Given the description of an element on the screen output the (x, y) to click on. 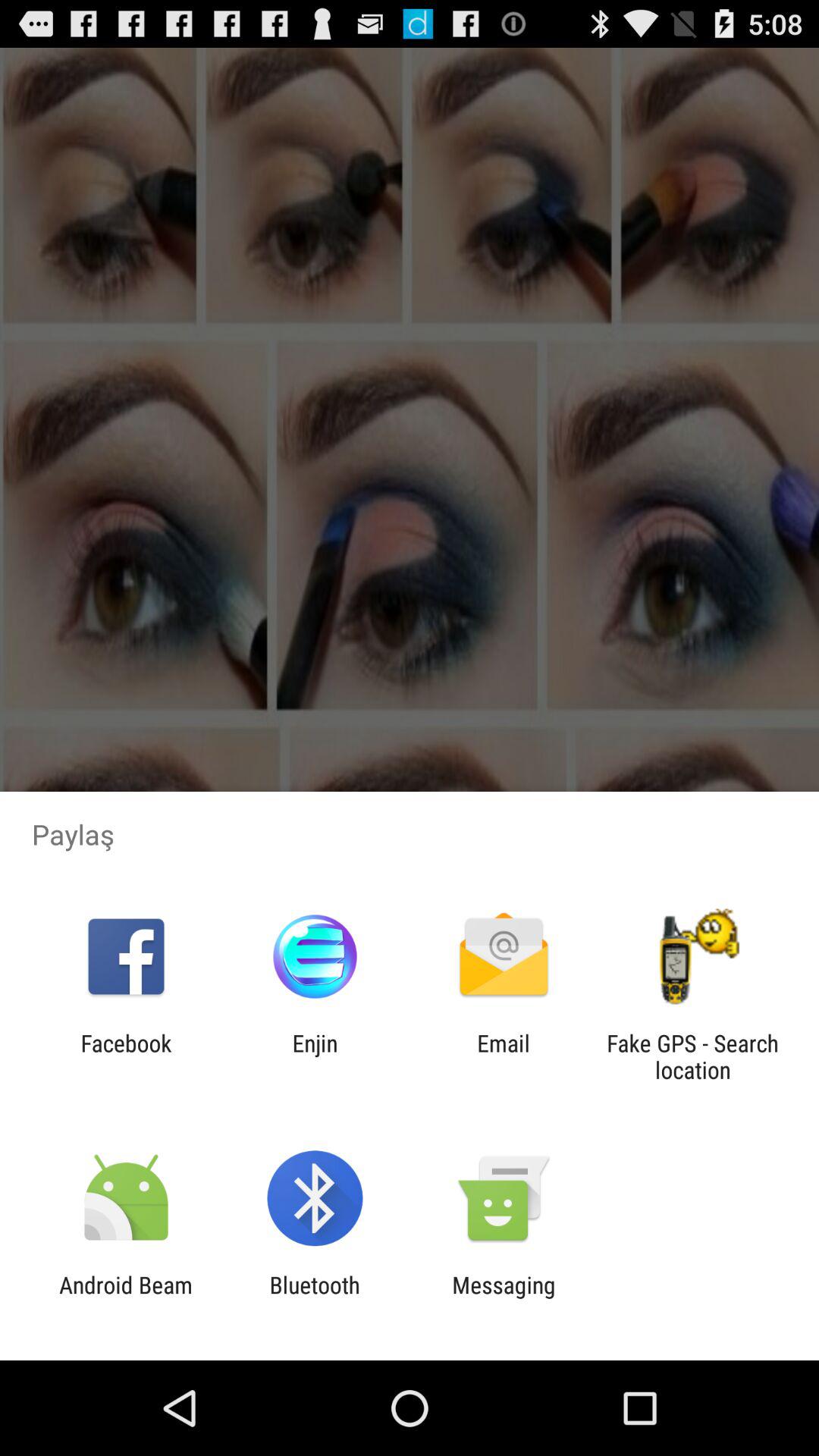
turn off app to the left of the messaging app (314, 1298)
